Given the description of an element on the screen output the (x, y) to click on. 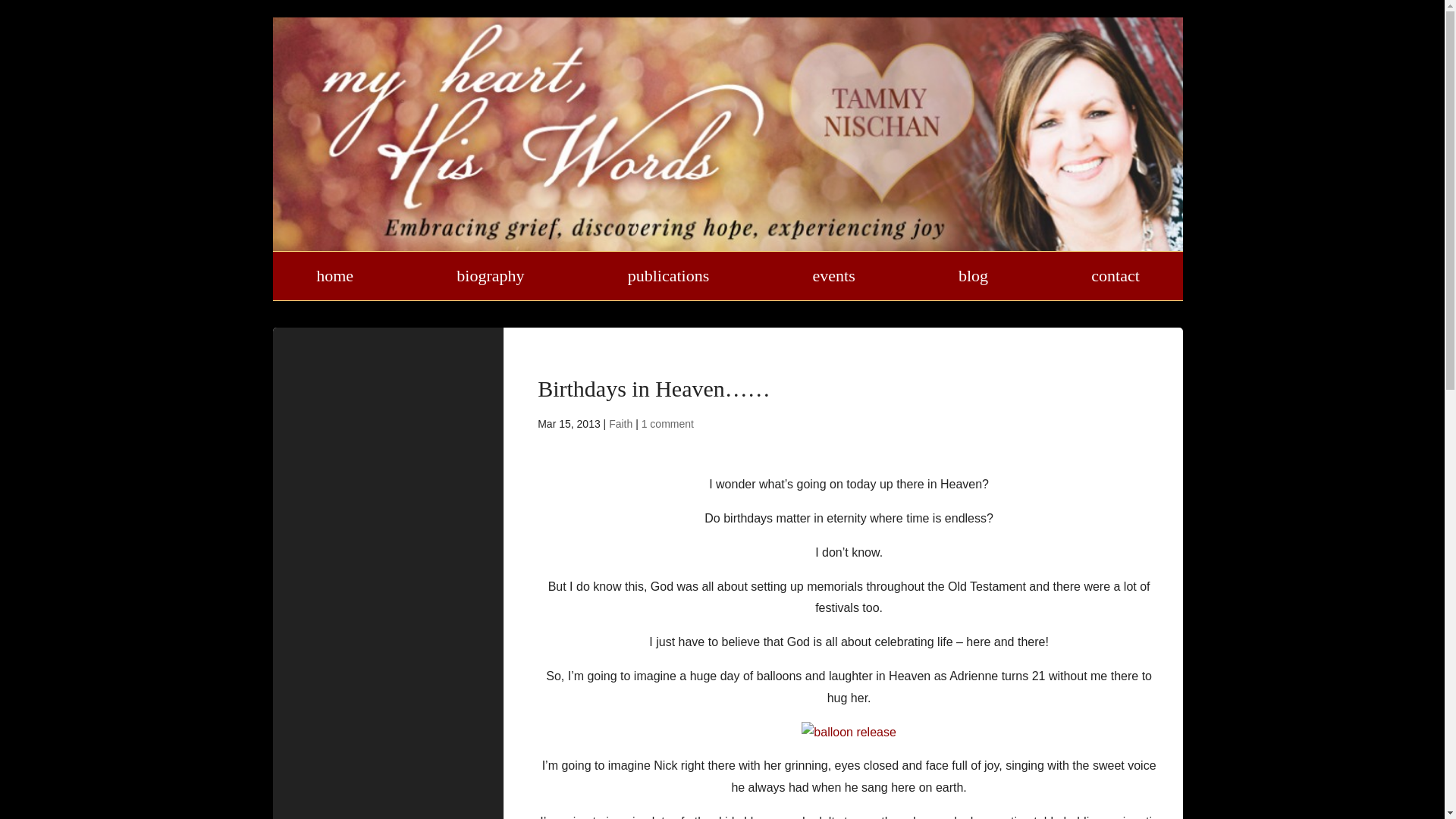
balloon release (849, 732)
contact (1115, 275)
publications (668, 275)
blog (972, 275)
Faith (619, 423)
home (334, 275)
1 comment (668, 423)
biography (490, 275)
events (833, 275)
